Given the description of an element on the screen output the (x, y) to click on. 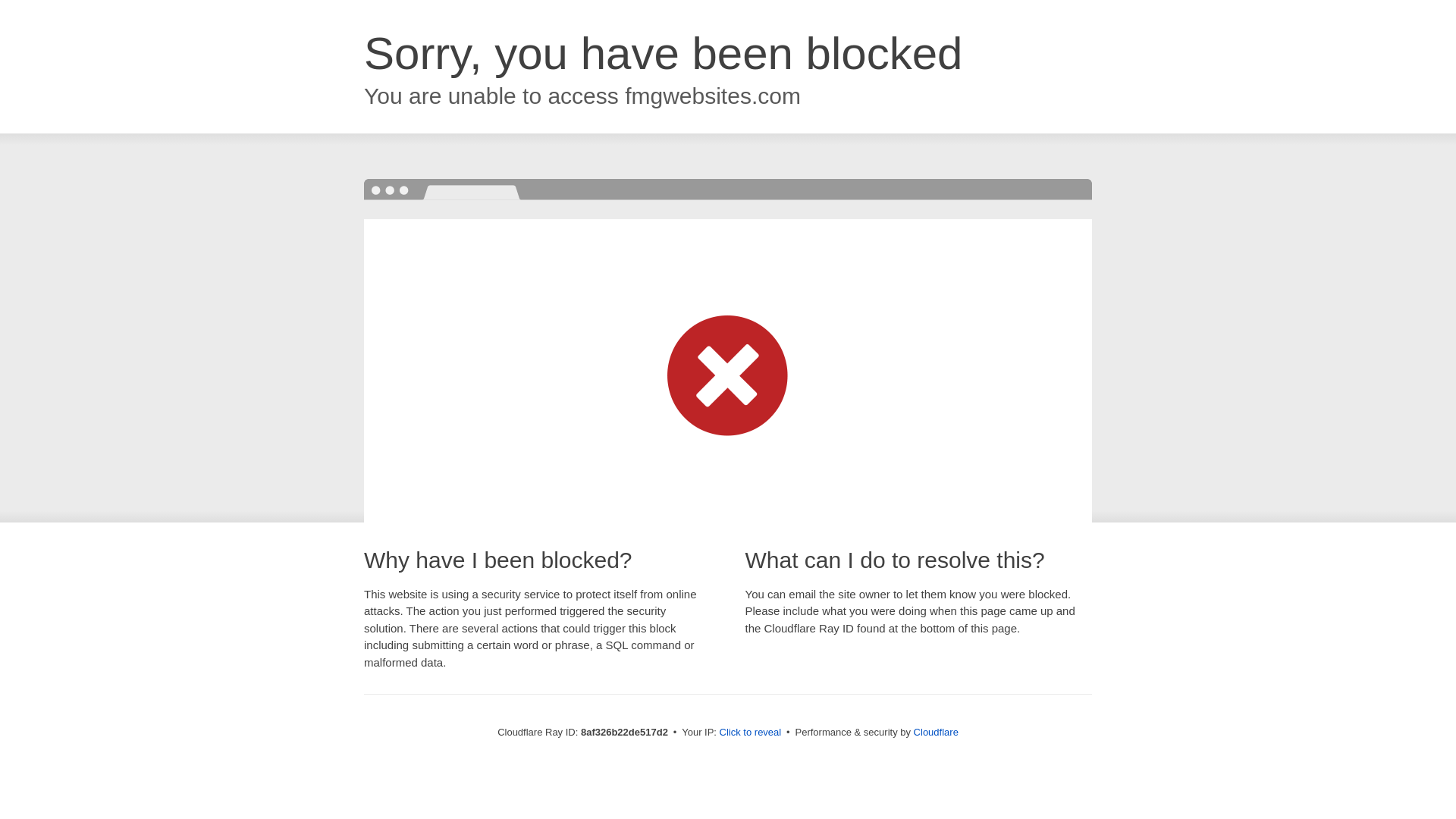
Cloudflare (936, 731)
Click to reveal (750, 732)
